Given the description of an element on the screen output the (x, y) to click on. 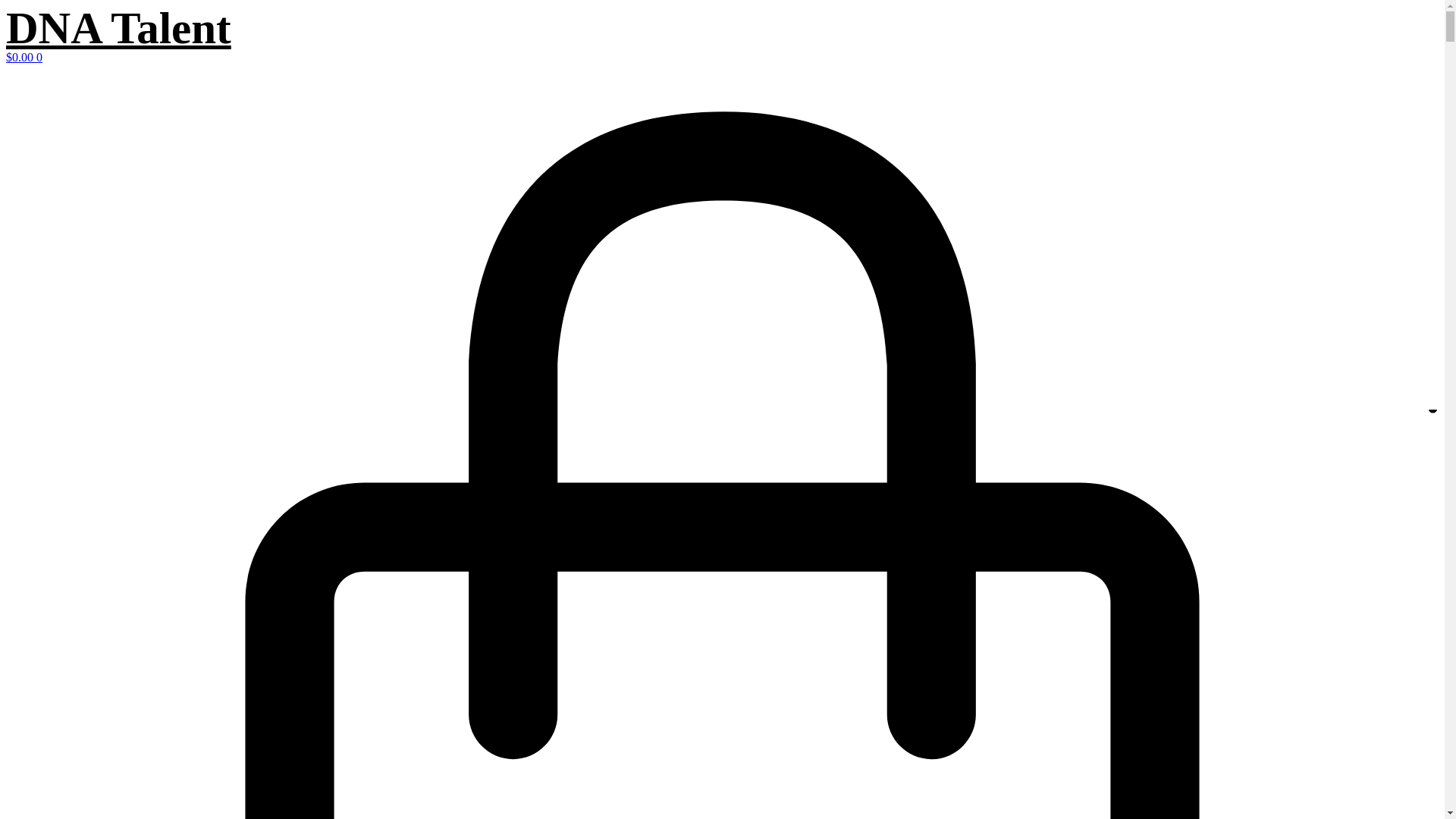
DNA Talent Element type: text (118, 28)
